Given the description of an element on the screen output the (x, y) to click on. 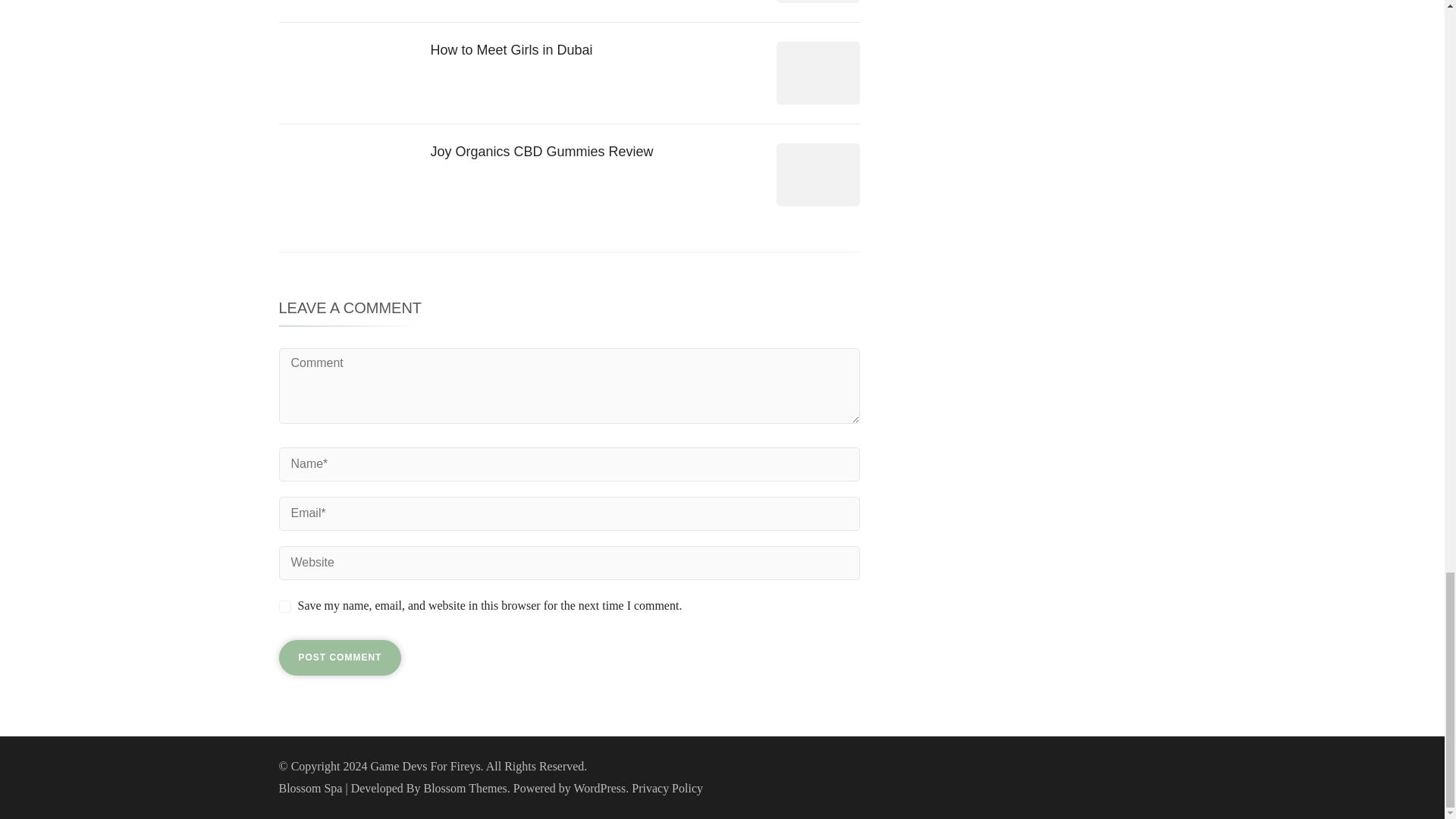
Post Comment (340, 657)
Joy Organics CBD Gummies Review (541, 151)
Post Comment (340, 657)
How to Meet Girls in Dubai (511, 49)
